Given the description of an element on the screen output the (x, y) to click on. 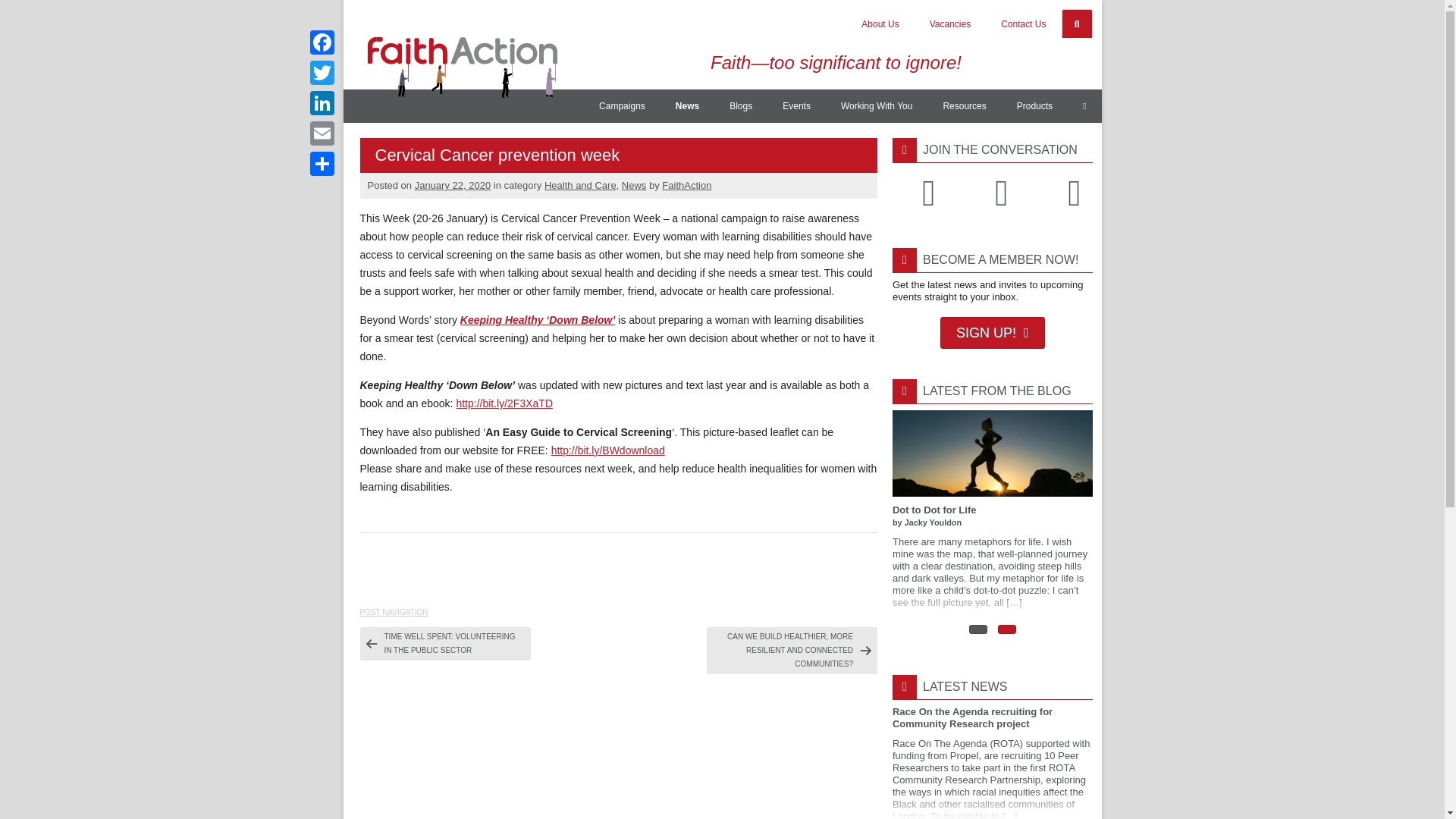
About Us (879, 24)
Blogs (740, 105)
Join us on Facebook (1001, 192)
Follow us on LinkedIn (1074, 192)
4:45 pm (452, 184)
Working With You (876, 105)
View all posts by FaithAction (686, 184)
Campaigns (622, 105)
Contact Us (1023, 24)
Events (796, 105)
Creative English for Health: Pushing Back Boundaries (792, 513)
Dot to Dot for Life (992, 513)
News (687, 105)
Vacancies (949, 24)
Follow us on Twitter (928, 192)
